Given the description of an element on the screen output the (x, y) to click on. 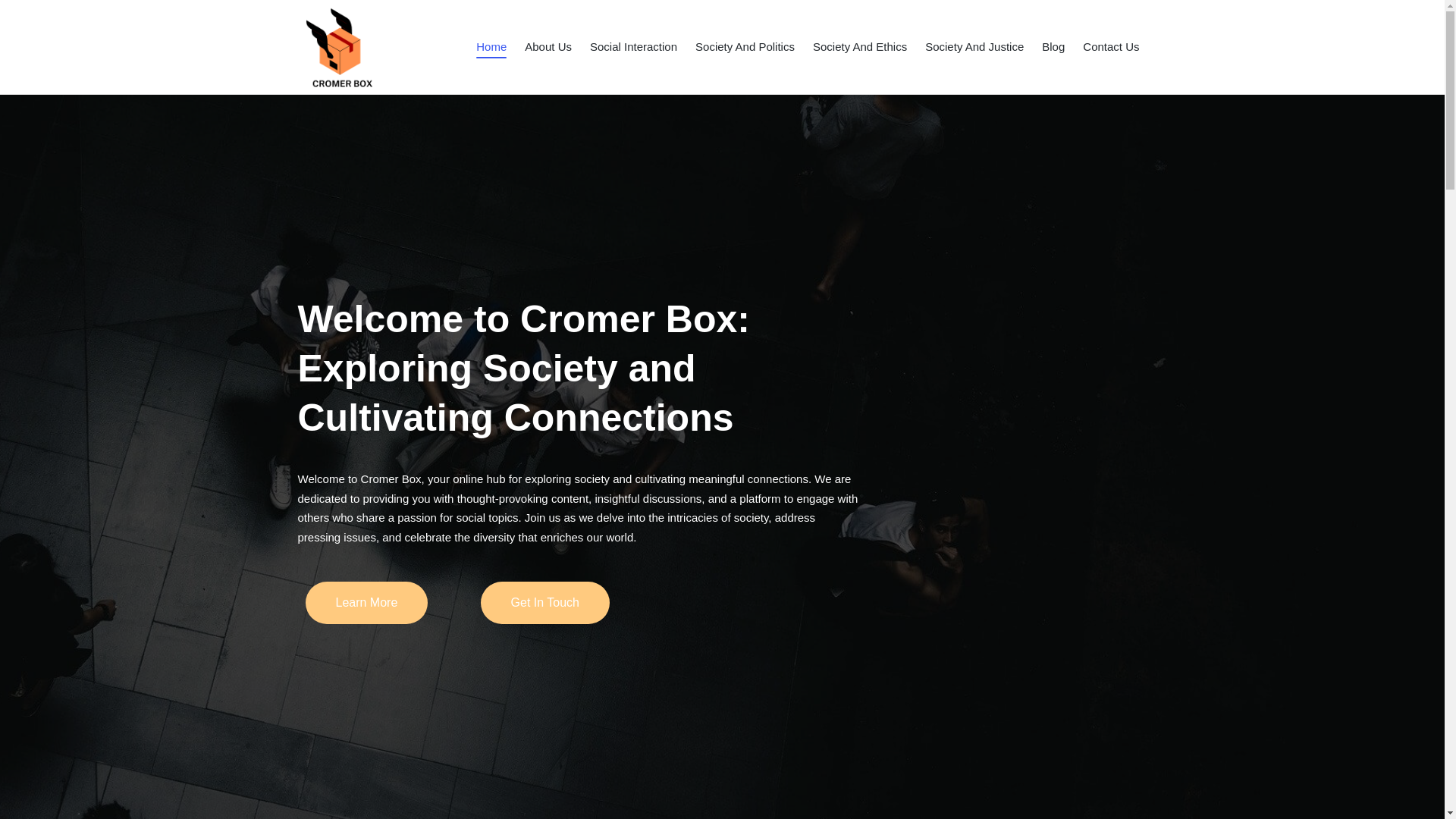
About Us (548, 47)
Contact Us (1110, 47)
Society And Politics (744, 47)
Learn More (366, 602)
Social Interaction (633, 47)
Blog (1053, 47)
Society And Justice (973, 47)
Home (491, 47)
Society And Ethics (859, 47)
Get In Touch (545, 602)
